Given the description of an element on the screen output the (x, y) to click on. 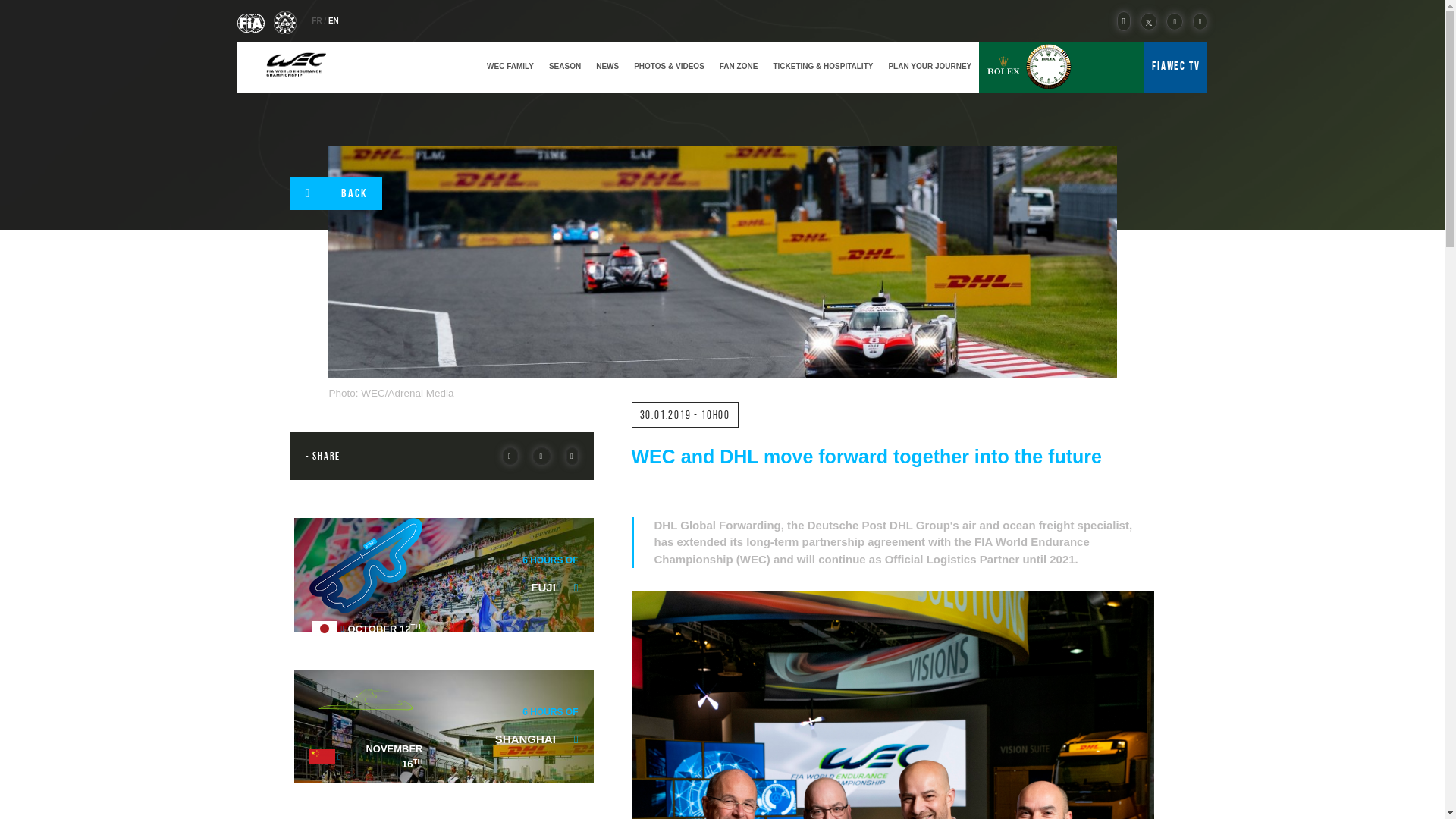
EN (334, 20)
WEC FAMILY (510, 65)
FAN ZONE (738, 65)
ACO (285, 22)
FIA (250, 22)
Follow us on instagram (1196, 21)
FIAWEC TV (1175, 65)
wec family (510, 65)
Fiawec (295, 66)
Follow us on twitter (1145, 21)
